Given the description of an element on the screen output the (x, y) to click on. 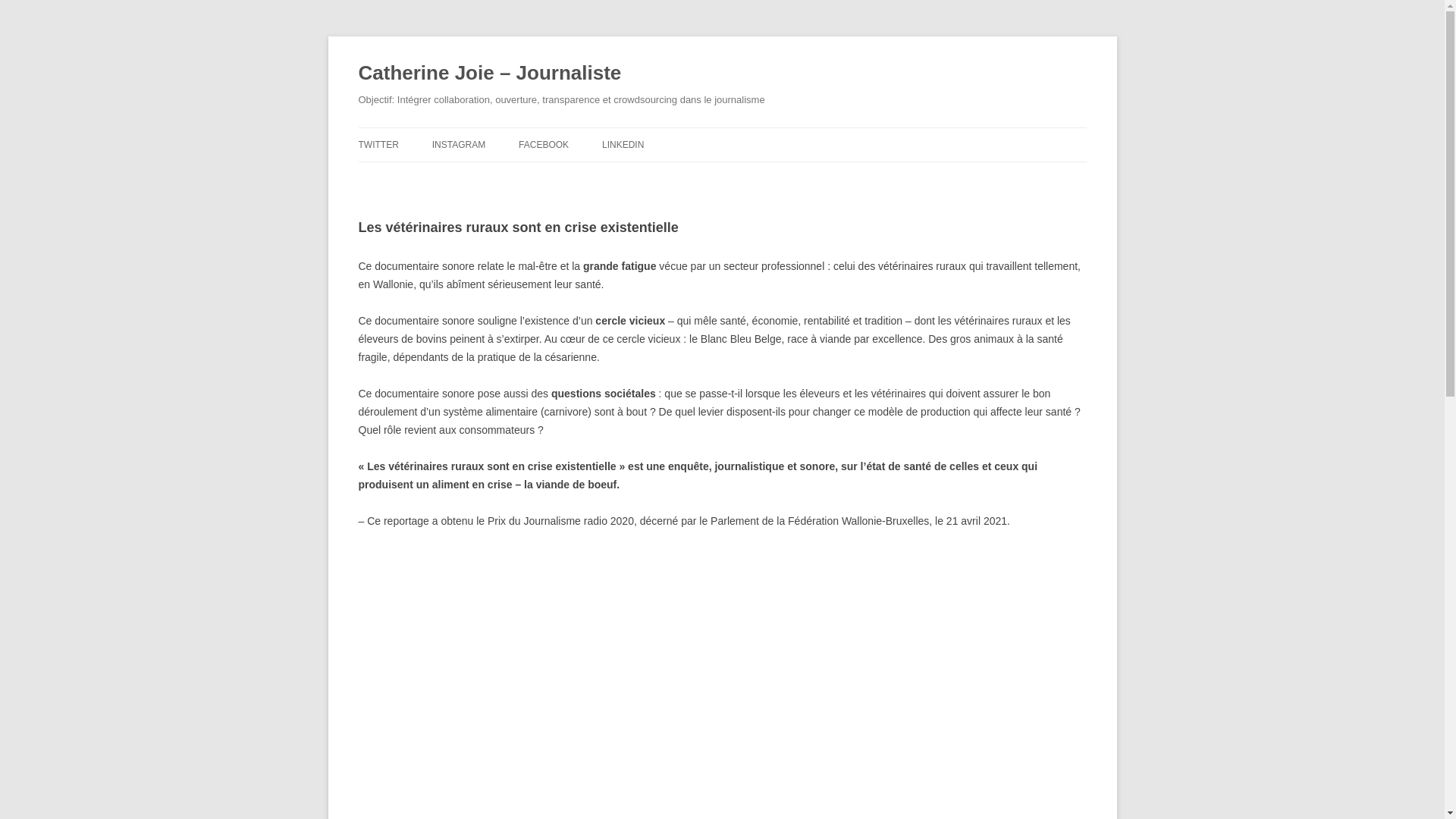
LINKEDIN Element type: text (622, 144)
TWITTER Element type: text (377, 144)
INSTAGRAM Element type: text (458, 144)
FACEBOOK Element type: text (543, 144)
Aller au contenu Element type: text (721, 127)
